Given the description of an element on the screen output the (x, y) to click on. 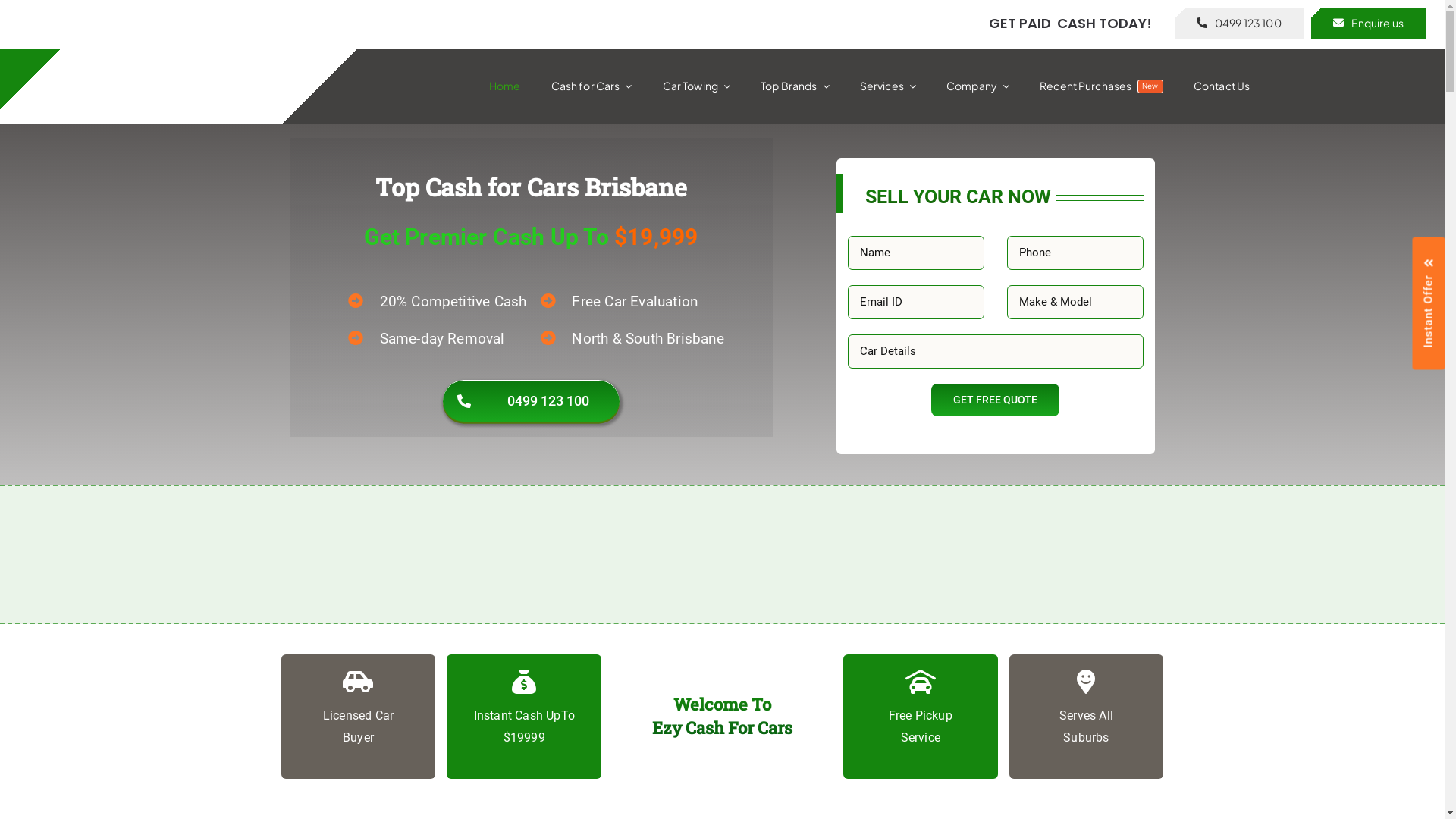
Cash for Cars Element type: text (591, 86)
Contact Us Element type: text (1221, 86)
Company Element type: text (977, 86)
ezycash-trusted car dealer Element type: hover (800, 553)
instant cash guaranteed Element type: hover (642, 553)
Get Free Quote Element type: text (995, 399)
Services Element type: text (887, 86)
0499 123 100 Element type: text (530, 400)
cash for car free doorstep pickup Element type: hover (484, 553)
Recent Purchases
New Element type: text (1101, 86)
Enquire us Element type: text (1368, 22)
Get a Free Quote Element type: text (1292, 642)
Top Brands Element type: text (794, 86)
0499 123 100 Element type: text (1238, 22)
Car Towing Element type: text (696, 86)
Home Element type: text (504, 86)
trusted car dealers Element type: hover (959, 552)
